Given the description of an element on the screen output the (x, y) to click on. 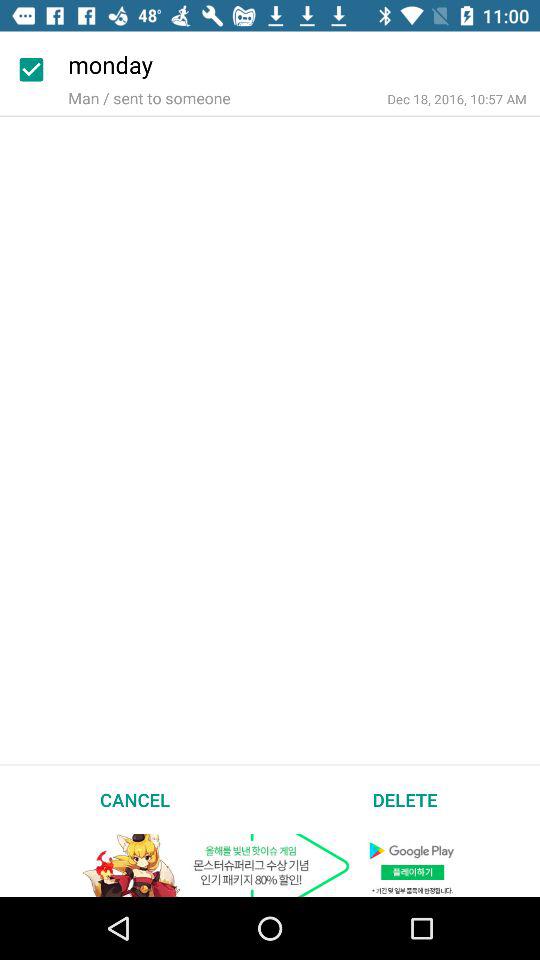
turn off icon to the left of the dec 18 2016 (149, 97)
